Given the description of an element on the screen output the (x, y) to click on. 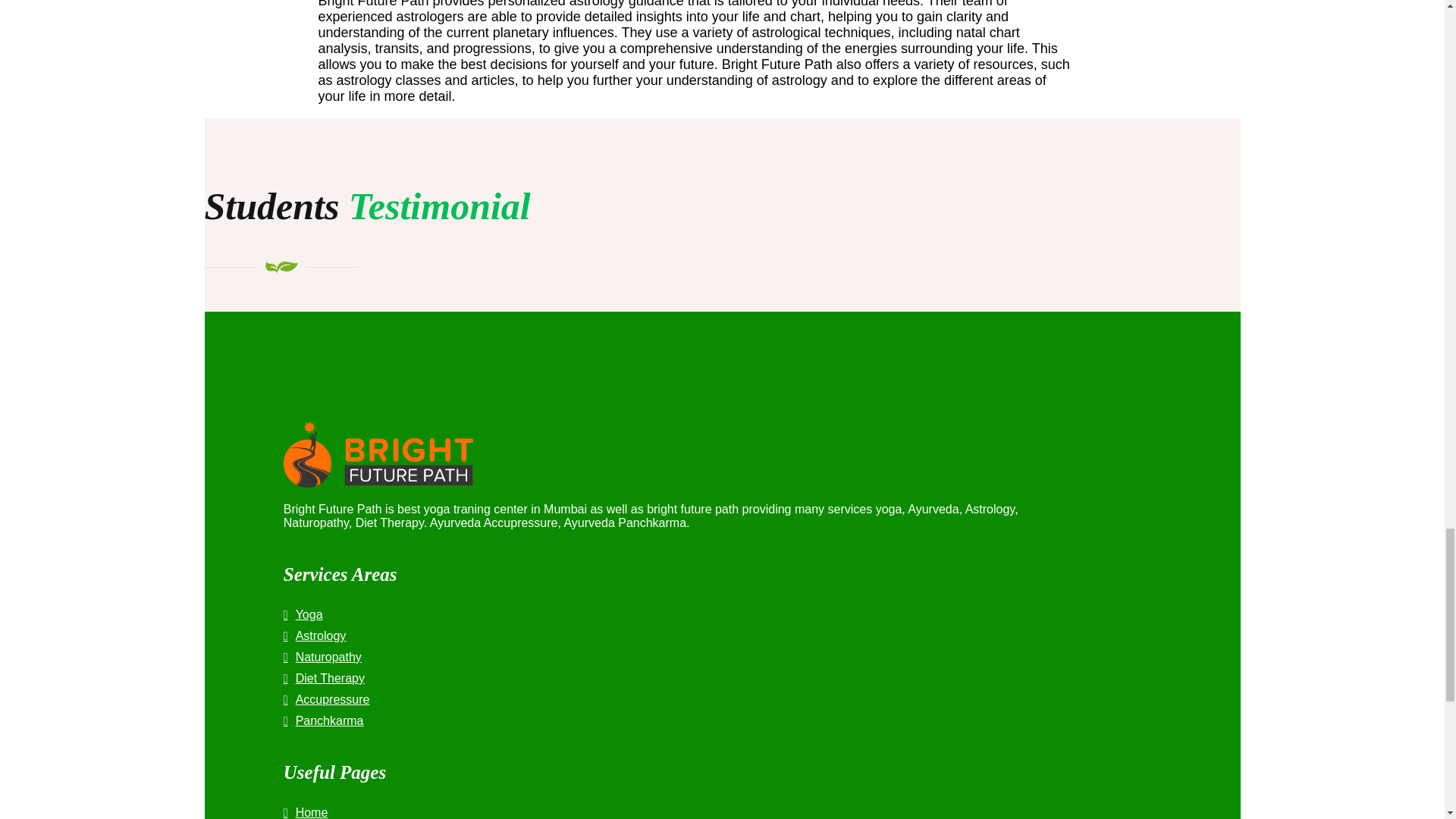
Astrology (662, 635)
Yoga (662, 614)
Naturopathy (662, 657)
